Given the description of an element on the screen output the (x, y) to click on. 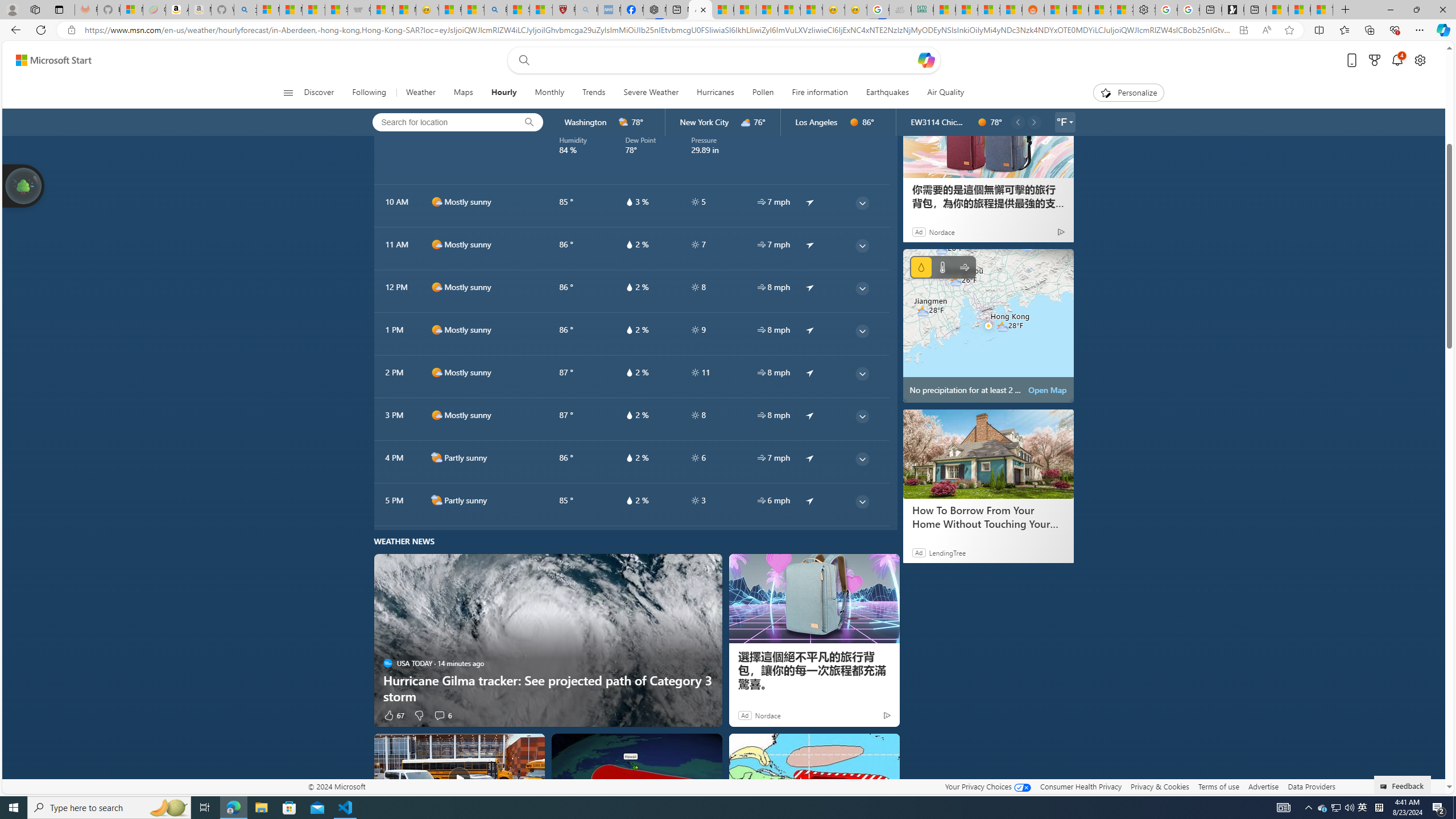
Open Map (1047, 390)
R******* | Trusted Community Engagement and Contributions (1055, 9)
common/carouselChevron (1034, 121)
